Given the description of an element on the screen output the (x, y) to click on. 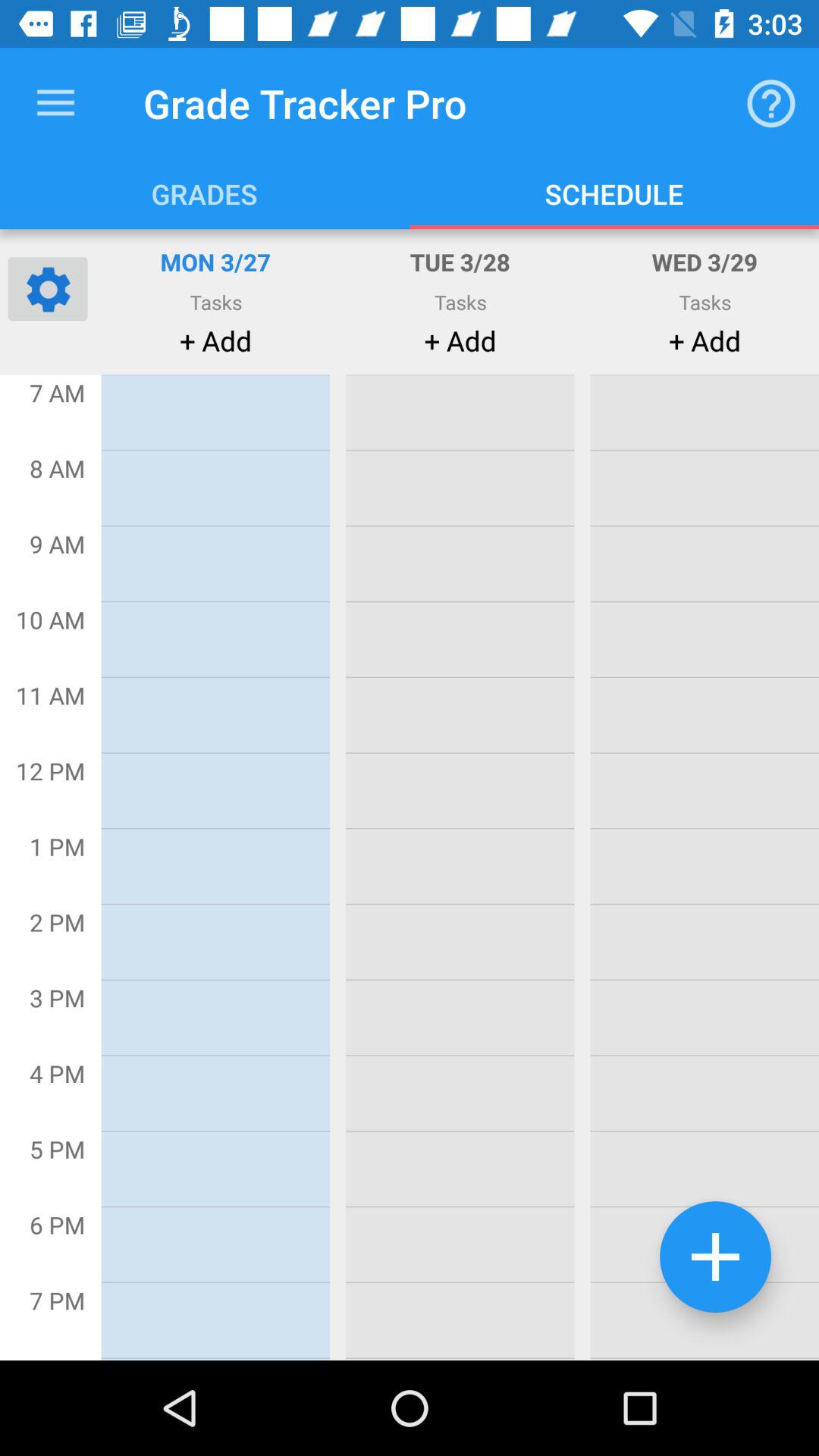
add to schedule (715, 1256)
